Given the description of an element on the screen output the (x, y) to click on. 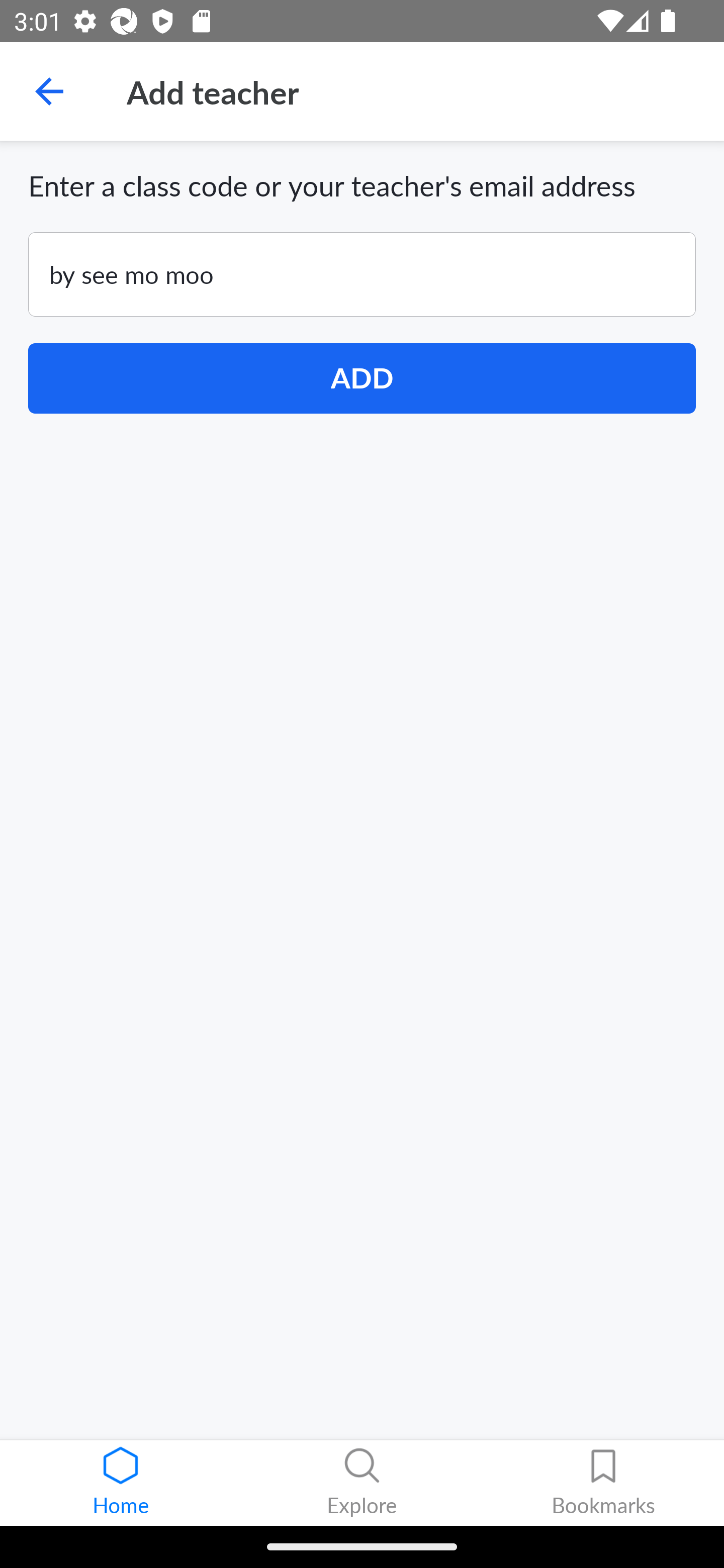
Navigate up (49, 91)
by see mo moo e.g. ABC123 or teacher@example.com (361, 274)
ADD (361, 378)
Home (120, 1482)
Explore (361, 1482)
Bookmarks (603, 1482)
